Given the description of an element on the screen output the (x, y) to click on. 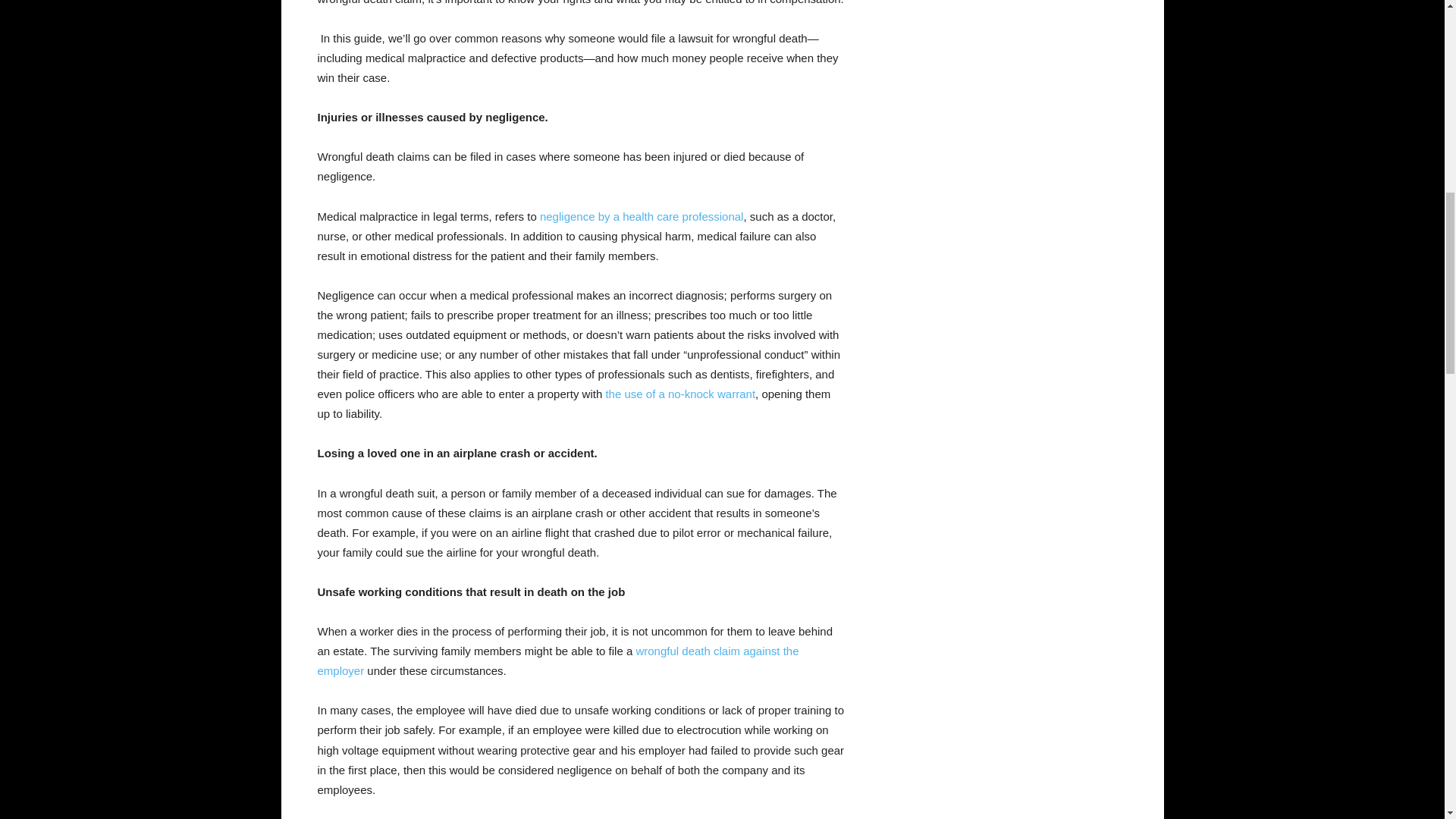
wrongful death claim against the employer (557, 660)
the use of a no-knock warrant (680, 393)
negligence by a health care professional (642, 215)
